Given the description of an element on the screen output the (x, y) to click on. 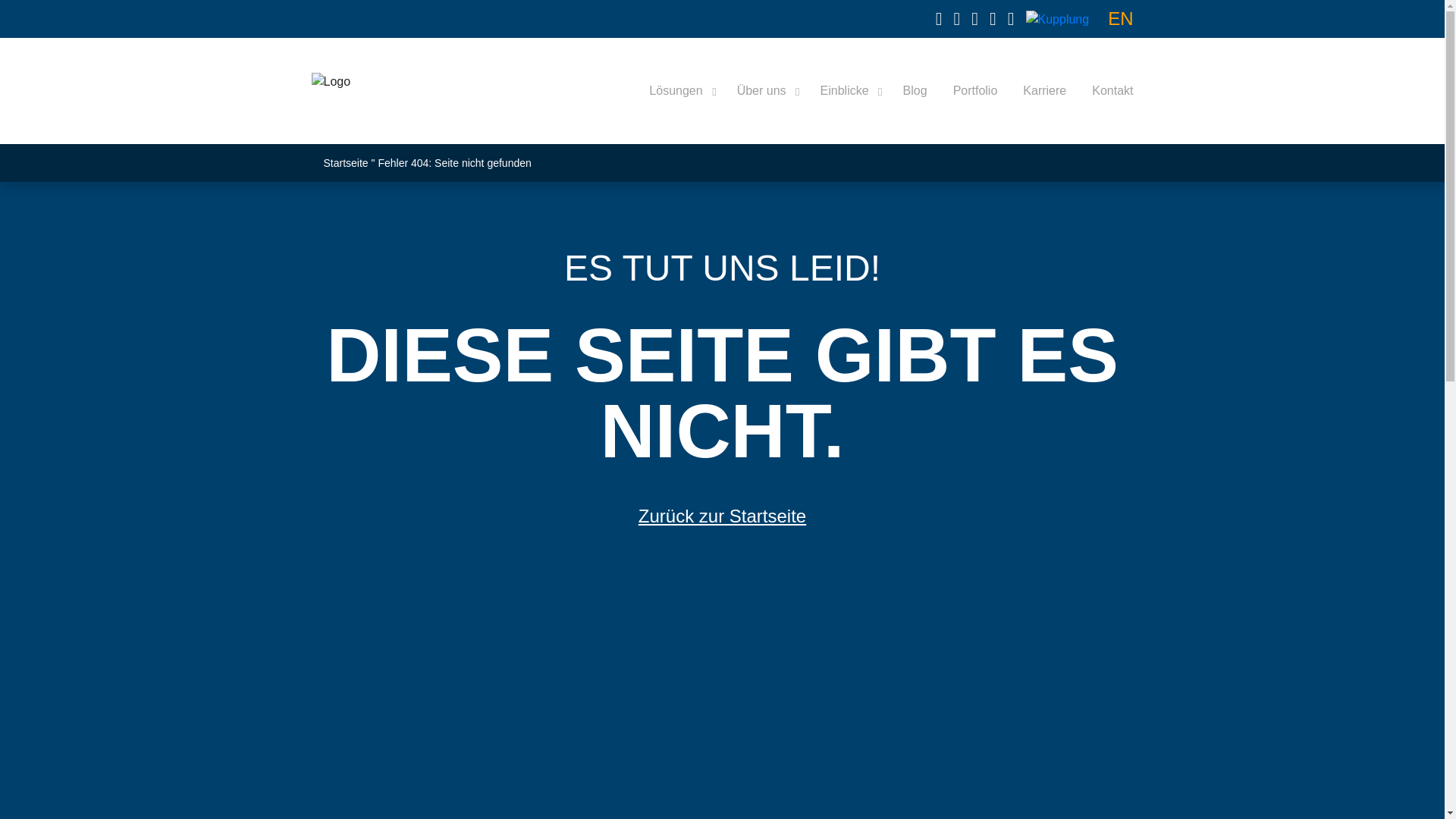
Blog (914, 91)
Language switcher : English (1120, 18)
Einblicke (848, 91)
EN (1120, 18)
Portfolio (975, 91)
